Given the description of an element on the screen output the (x, y) to click on. 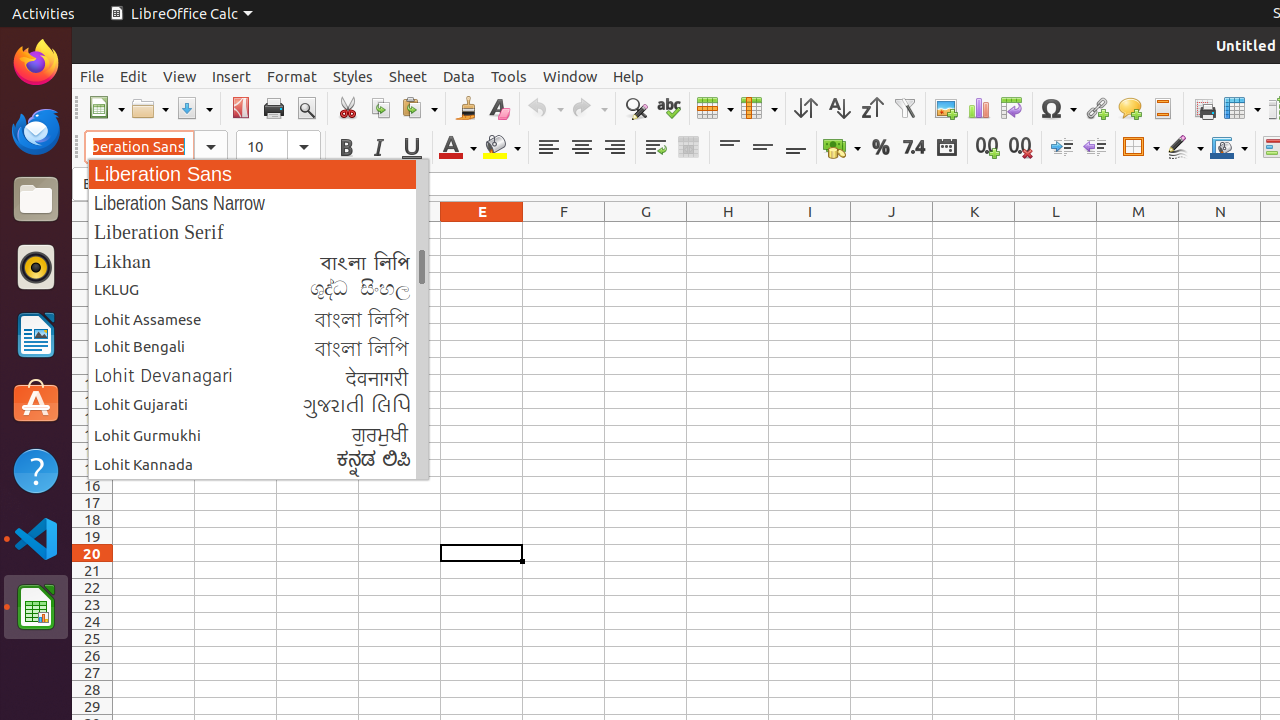
Comment Element type: push-button (1129, 108)
Image Element type: push-button (945, 108)
Percent Element type: push-button (880, 147)
Borders (Shift to overwrite) Element type: push-button (1141, 147)
Undo Element type: push-button (545, 108)
